Given the description of an element on the screen output the (x, y) to click on. 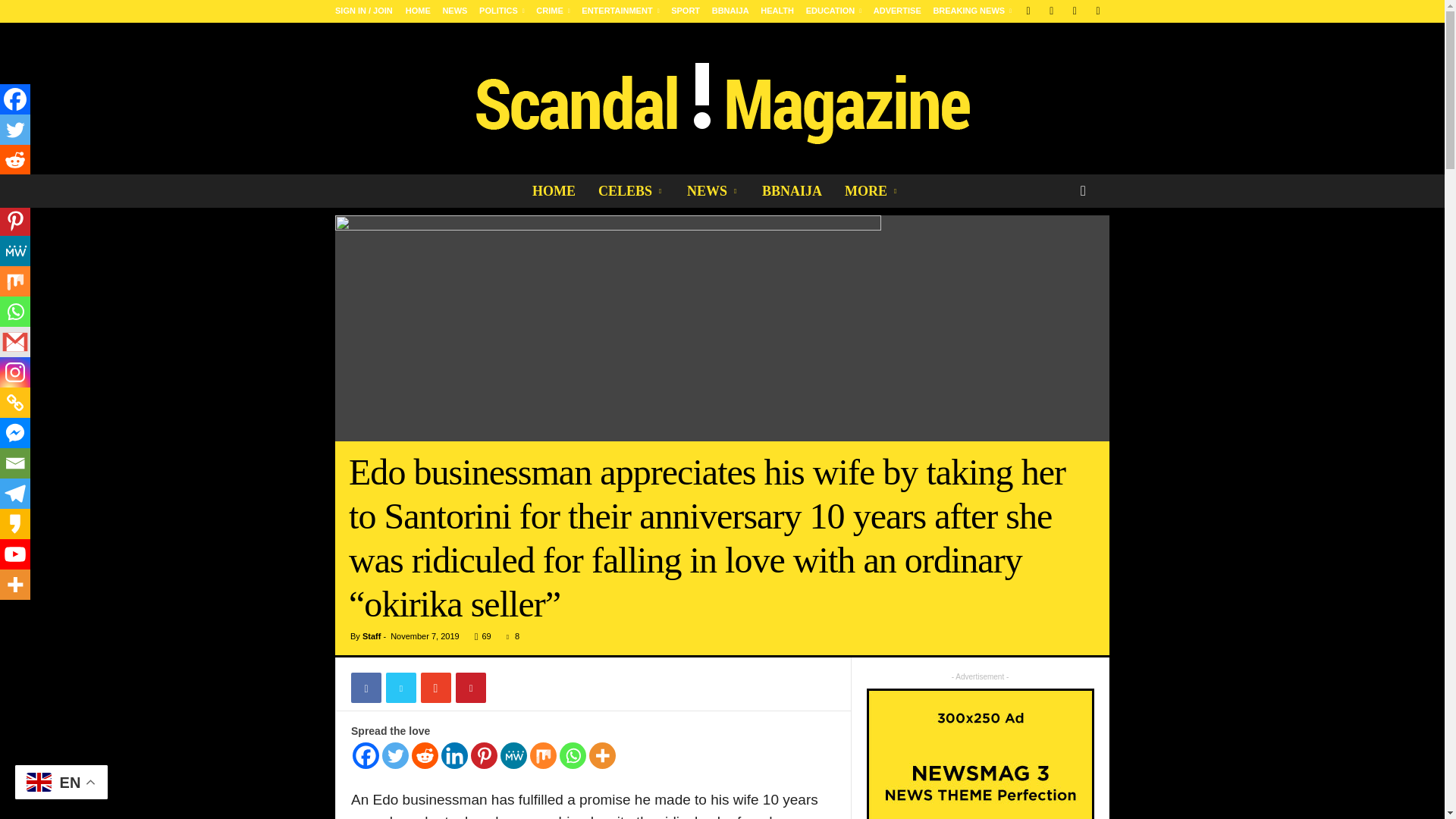
ENTERTAINMENT (619, 10)
Reddit (425, 755)
CRIME (552, 10)
POLITICS (501, 10)
Linkedin (454, 755)
Facebook (365, 755)
NEWS (454, 10)
Twitter (395, 755)
SPORT (685, 10)
HOME (418, 10)
Pinterest (483, 755)
